Given the description of an element on the screen output the (x, y) to click on. 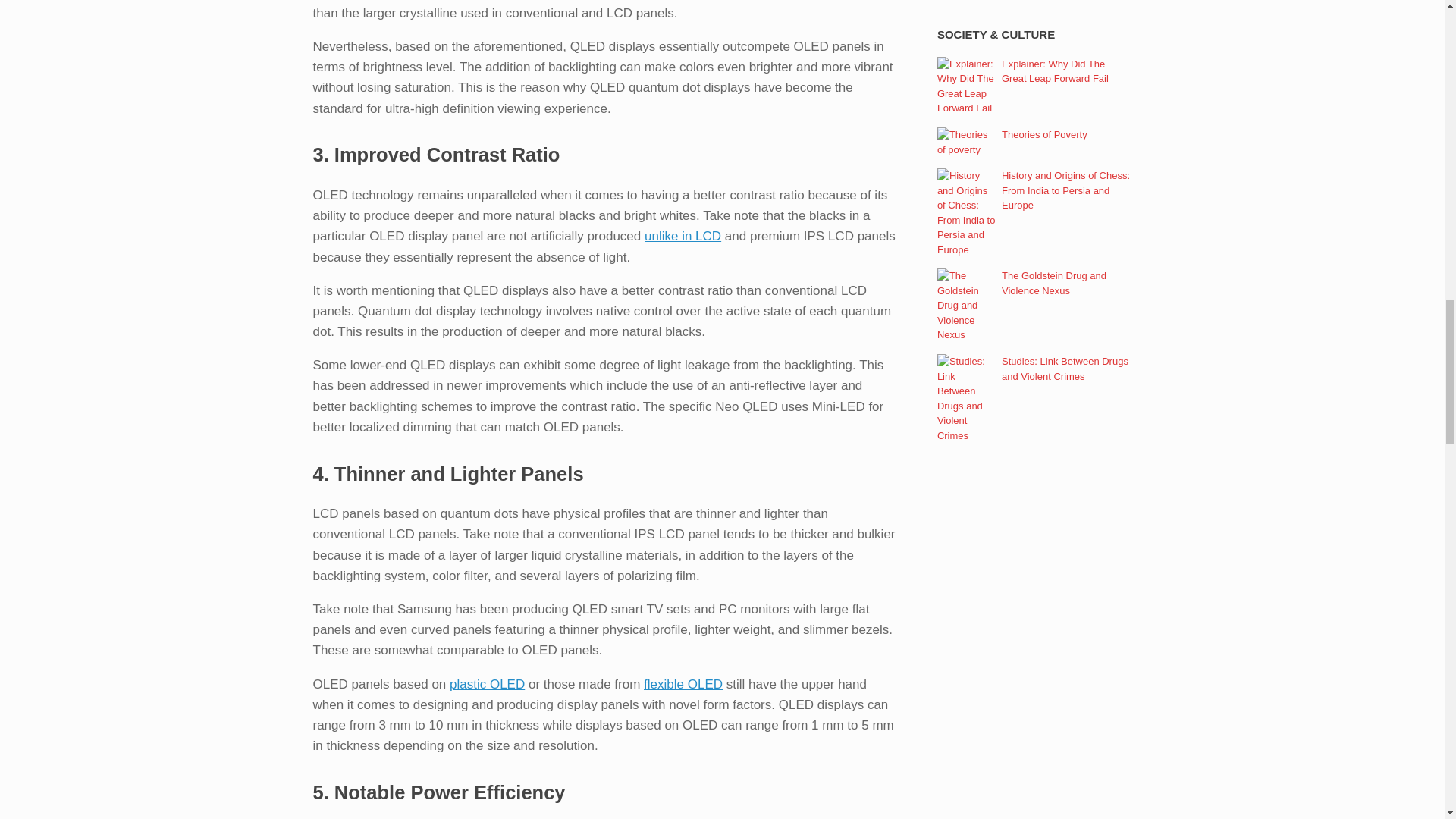
plastic OLED (486, 683)
flexible OLED (682, 683)
unlike in LCD (682, 236)
